Given the description of an element on the screen output the (x, y) to click on. 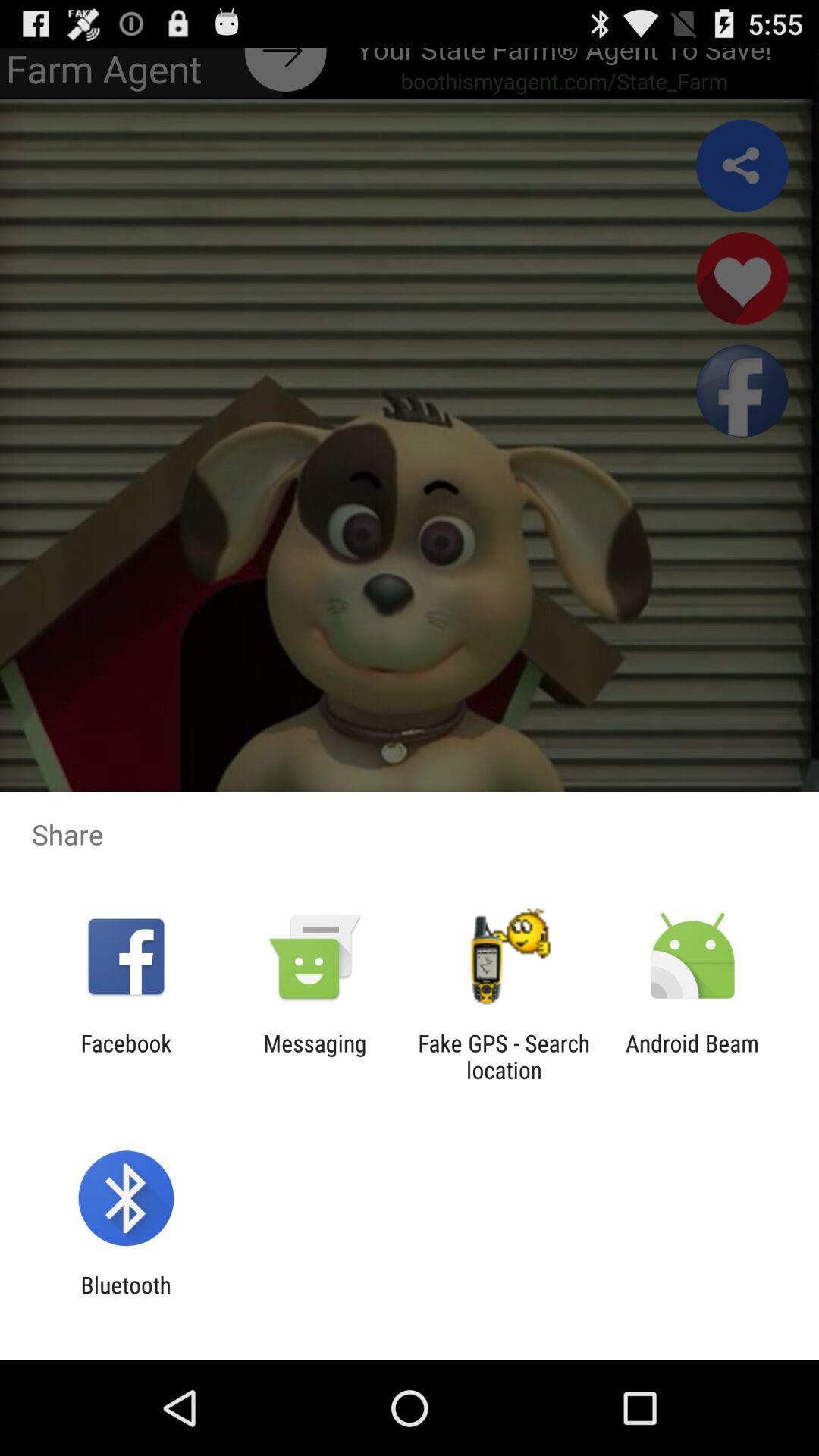
launch app next to fake gps search app (692, 1056)
